Given the description of an element on the screen output the (x, y) to click on. 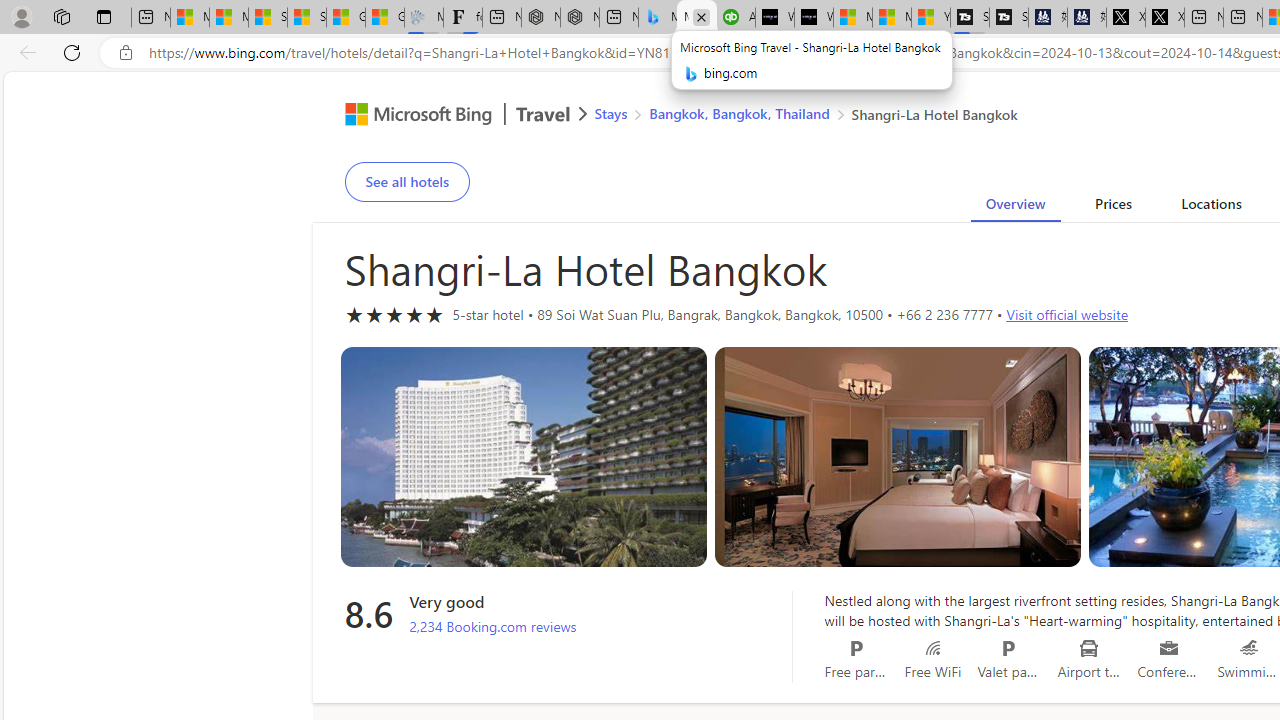
Close tab (701, 16)
Hotel room image (897, 457)
Microsoft Start (892, 17)
Nordace - #1 Japanese Best-Seller - Siena Smart Backpack (579, 17)
2,234 Booking.com reviews (493, 627)
Microsoft Bing Travel (445, 116)
Personal Profile (21, 16)
Travel (543, 116)
Workspaces (61, 16)
Visit official website (1066, 314)
Free WiFi (932, 647)
Stays (610, 112)
